Given the description of an element on the screen output the (x, y) to click on. 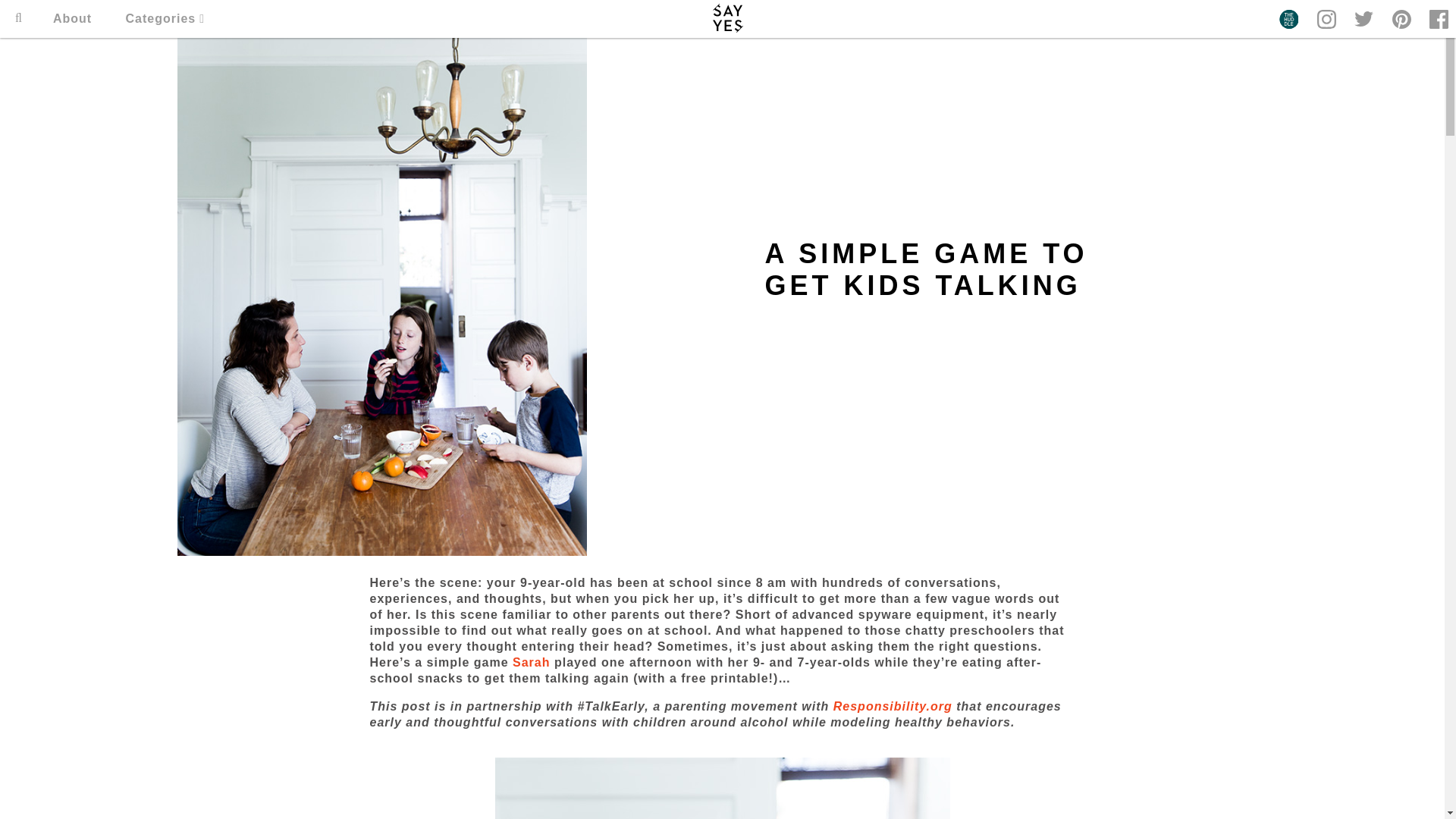
Responsibility.org (892, 706)
About (71, 18)
Categories (165, 18)
Sarah (531, 662)
